Given the description of an element on the screen output the (x, y) to click on. 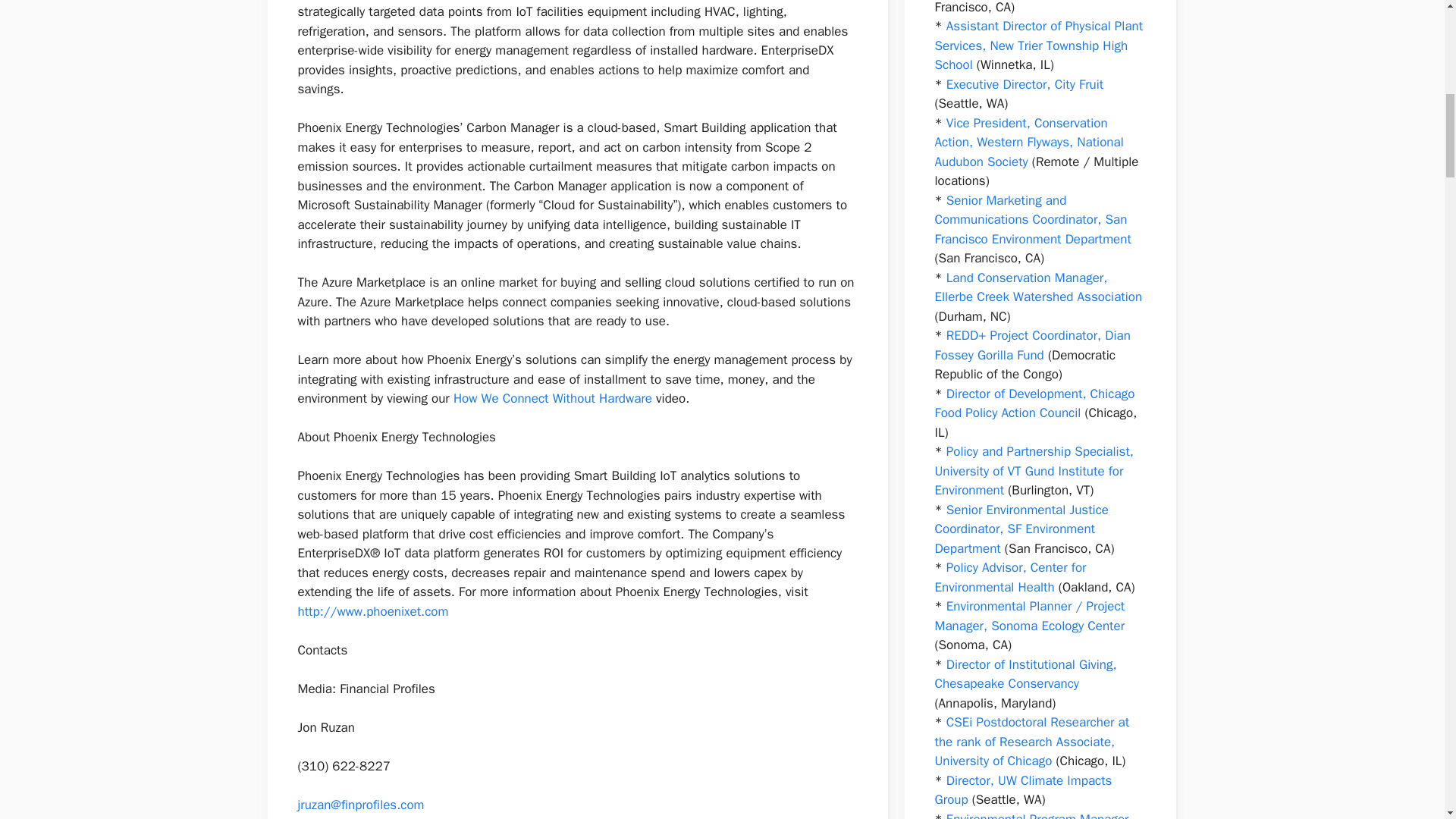
Executive Director, City Fruit (1024, 83)
How We Connect Without Hardware (552, 398)
